Given the description of an element on the screen output the (x, y) to click on. 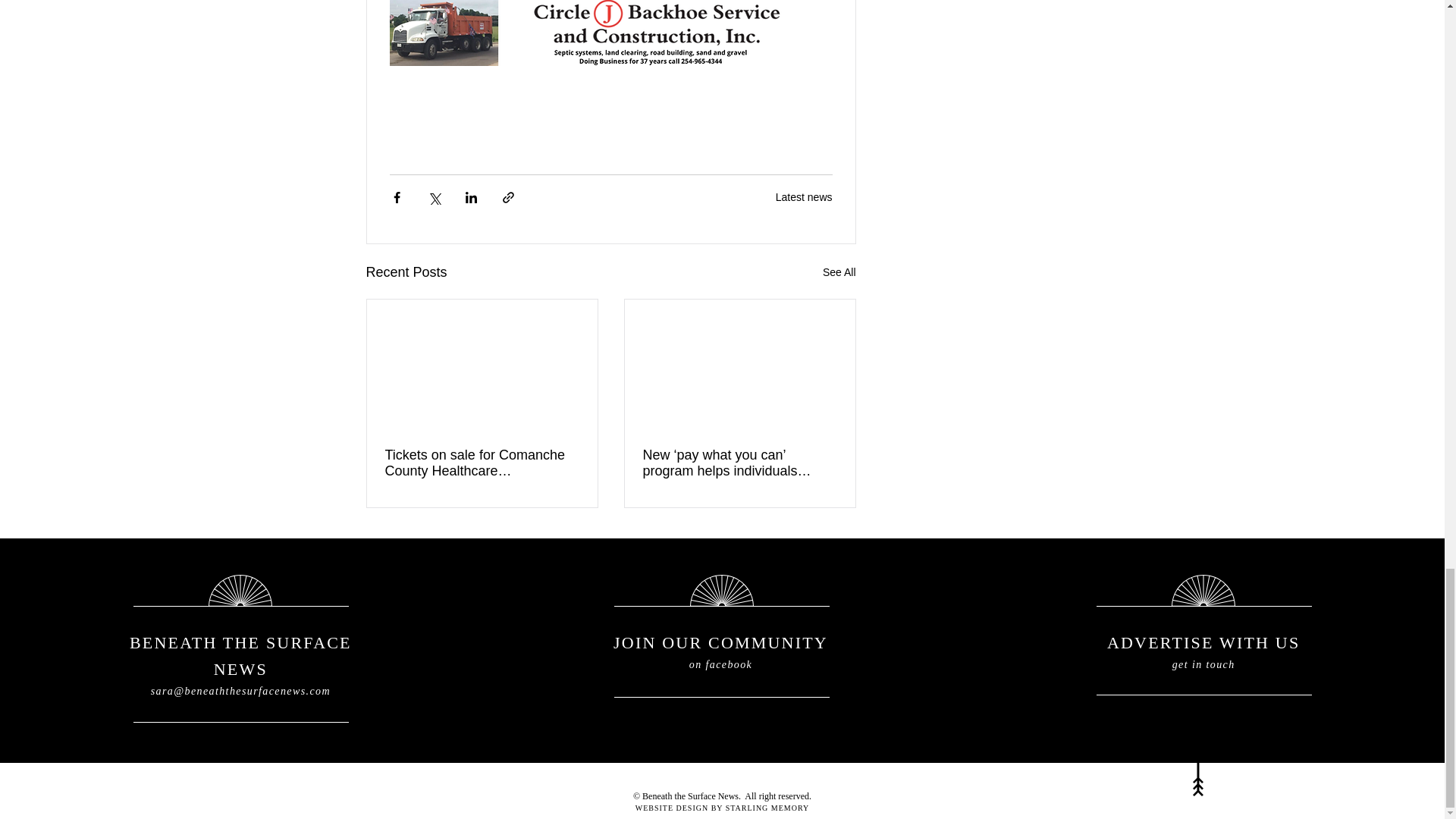
WEBSITE DESIGN BY STARLING MEMORY (721, 807)
on facebook (720, 664)
See All (839, 272)
Latest news (804, 196)
get in touch (1203, 664)
